Given the description of an element on the screen output the (x, y) to click on. 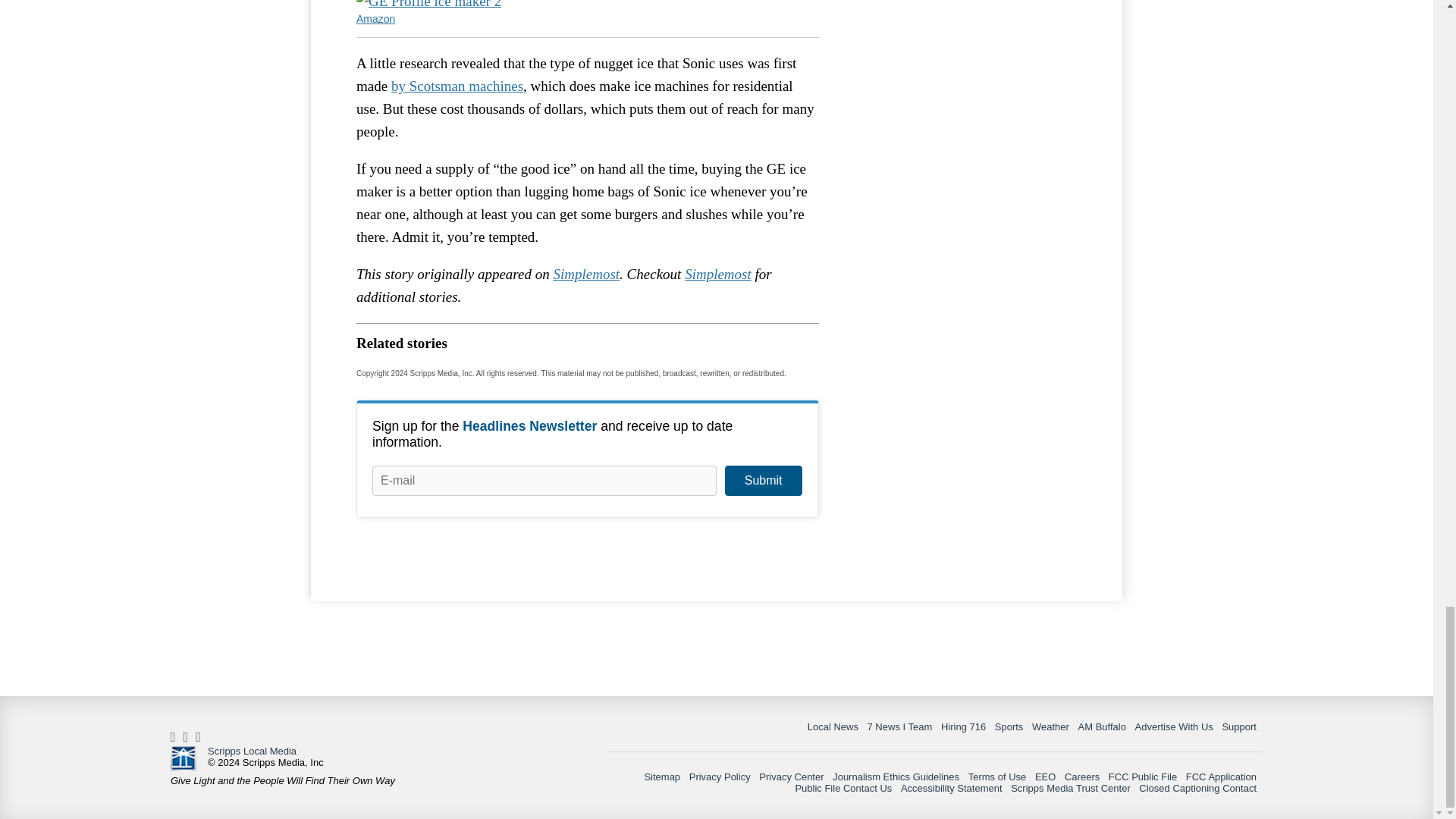
Submit (763, 481)
